Given the description of an element on the screen output the (x, y) to click on. 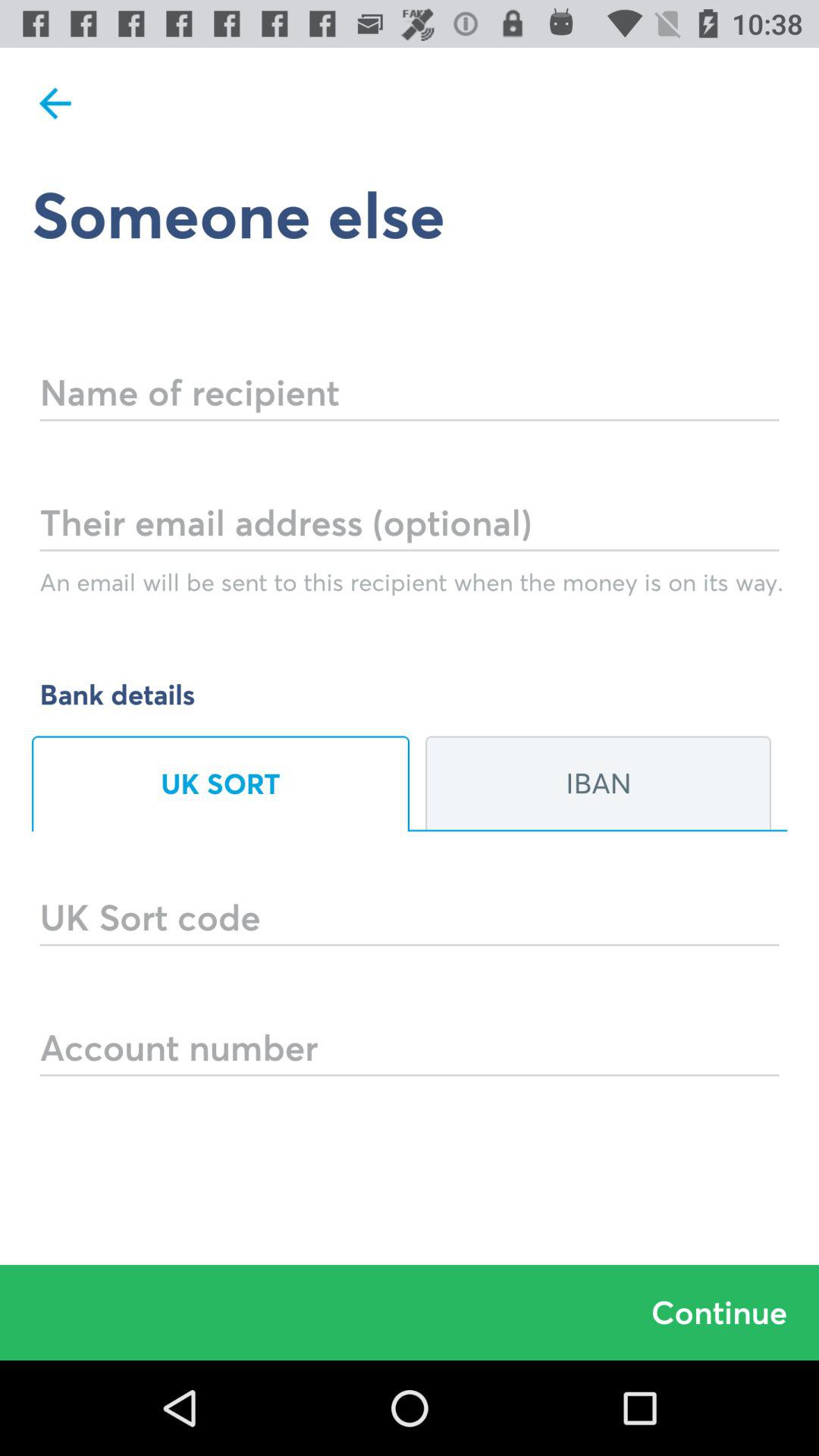
select the text which is immediately above account number (409, 895)
click on account number (409, 1026)
go to first blank (409, 370)
click on name of recipient field (409, 370)
select the button which is right to uk sort (598, 783)
select option uk sort which is below bank details on page (220, 783)
